Given the description of an element on the screen output the (x, y) to click on. 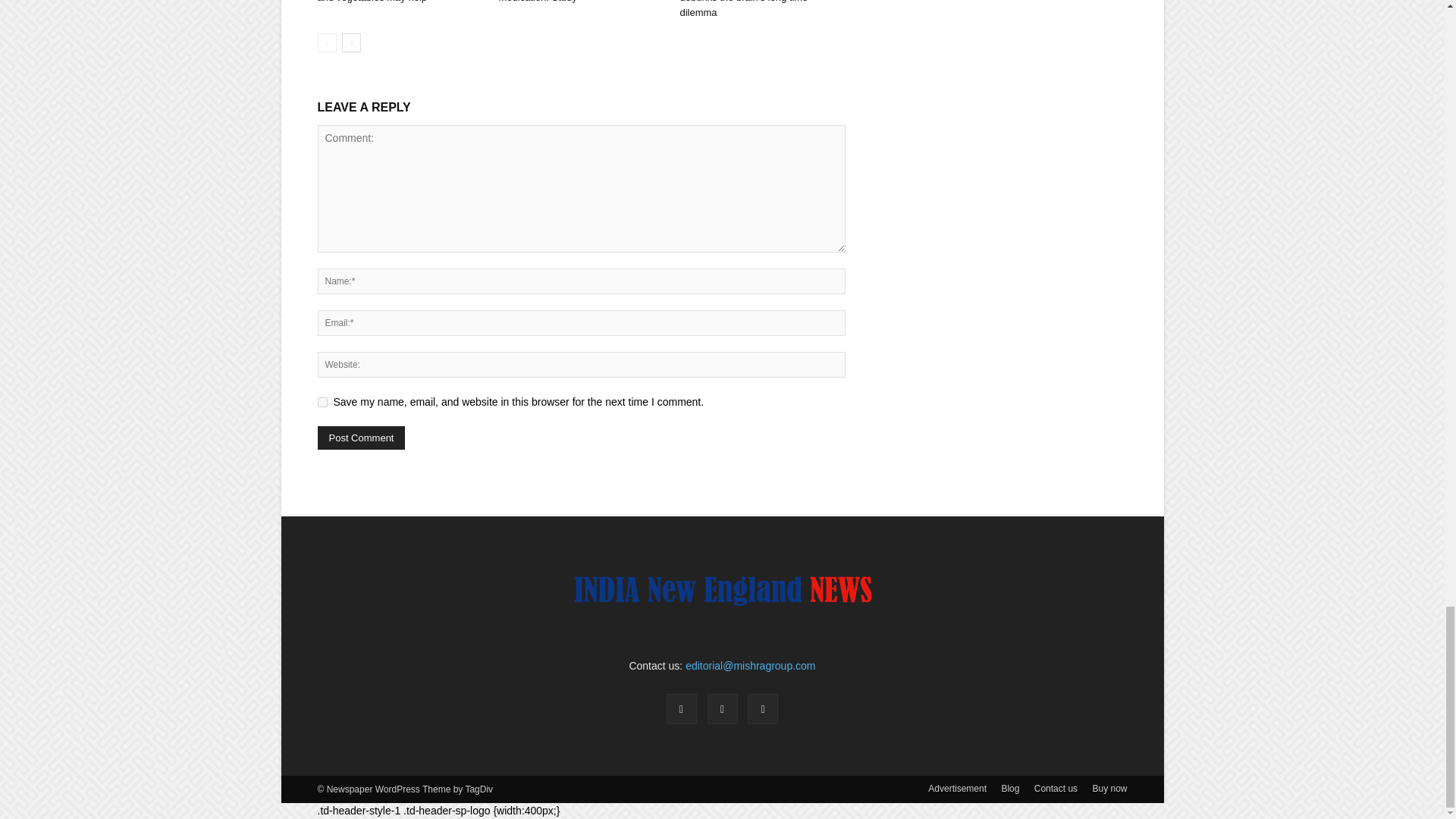
Post Comment (360, 437)
yes (321, 402)
